Given the description of an element on the screen output the (x, y) to click on. 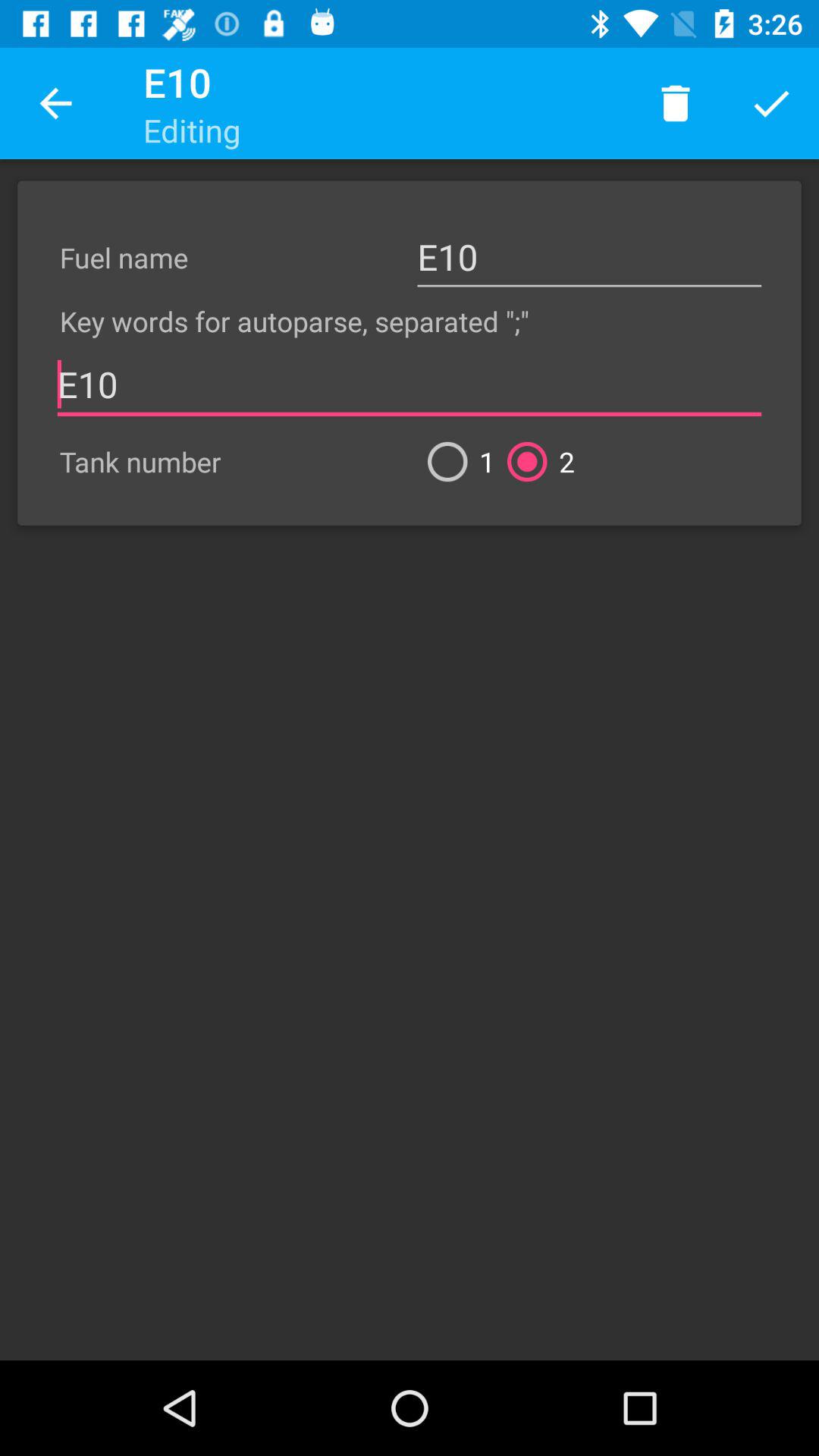
tap item next to e10 (55, 103)
